Given the description of an element on the screen output the (x, y) to click on. 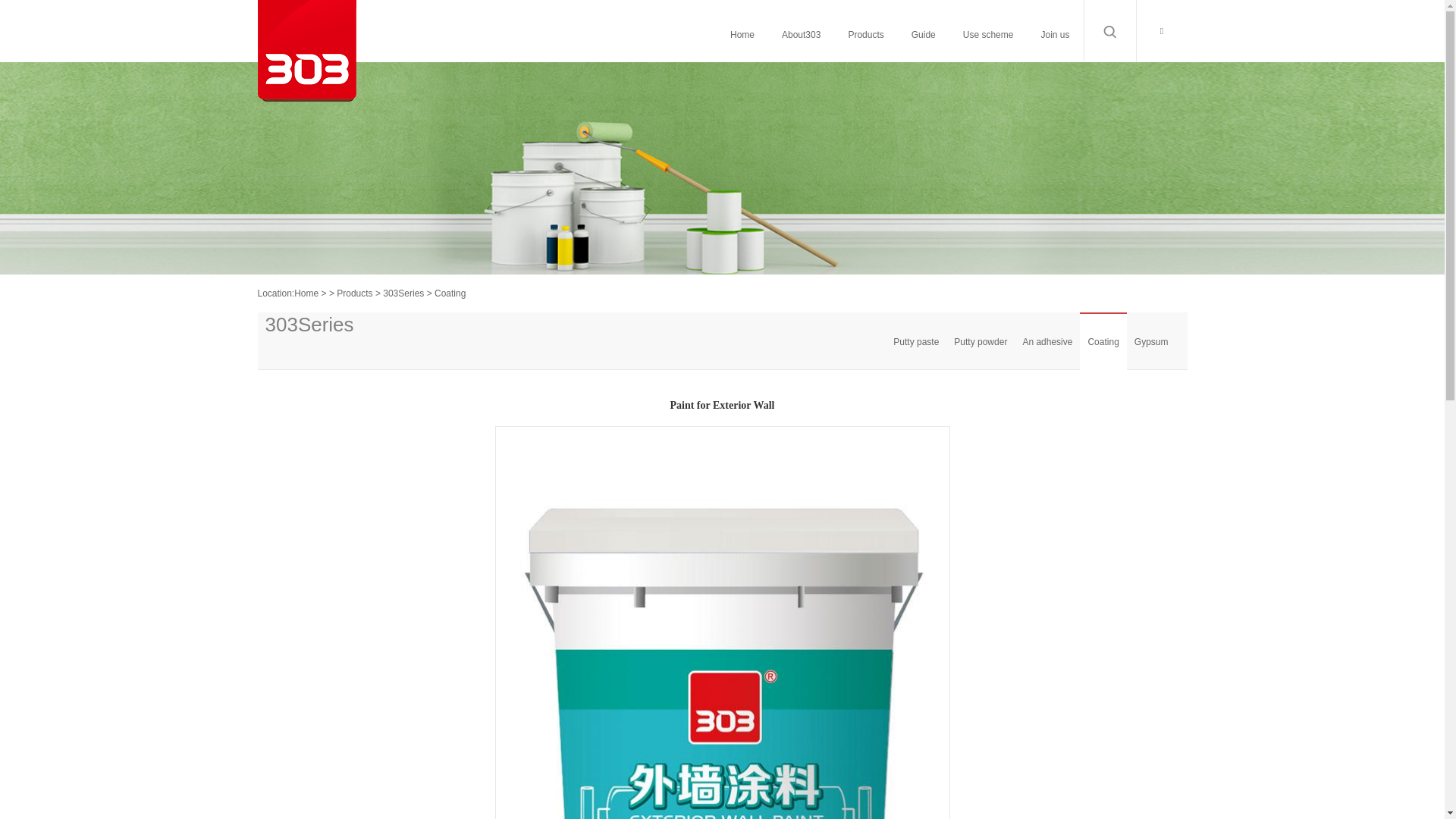
Products Element type: text (865, 34)
Putty powder Element type: text (980, 341)
About303 Element type: text (801, 34)
Guide Element type: text (923, 34)
Home Element type: text (306, 293)
Gypsum Element type: text (1151, 341)
Home Element type: text (742, 34)
Join us Element type: text (1054, 34)
An adhesive Element type: text (1046, 341)
Coating Element type: text (1102, 341)
Putty paste Element type: text (915, 341)
Use scheme Element type: text (988, 34)
